Given the description of an element on the screen output the (x, y) to click on. 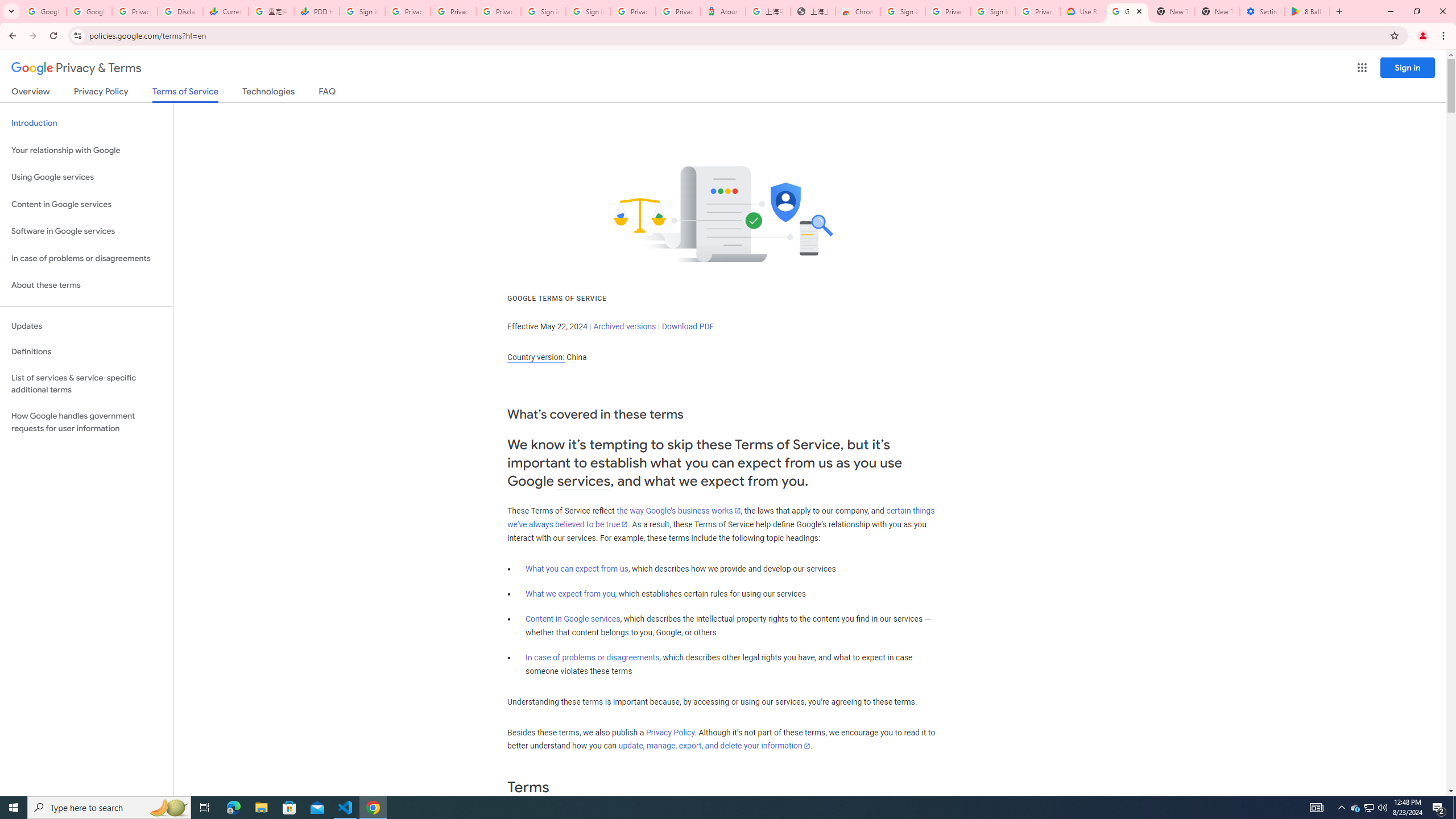
List of services & service-specific additional terms (86, 383)
Privacy Policy (669, 732)
Sign in - Google Accounts (992, 11)
Sign in - Google Accounts (362, 11)
Updates (86, 325)
Using Google services (86, 176)
Privacy & Terms (76, 68)
What we expect from you (570, 593)
